Given the description of an element on the screen output the (x, y) to click on. 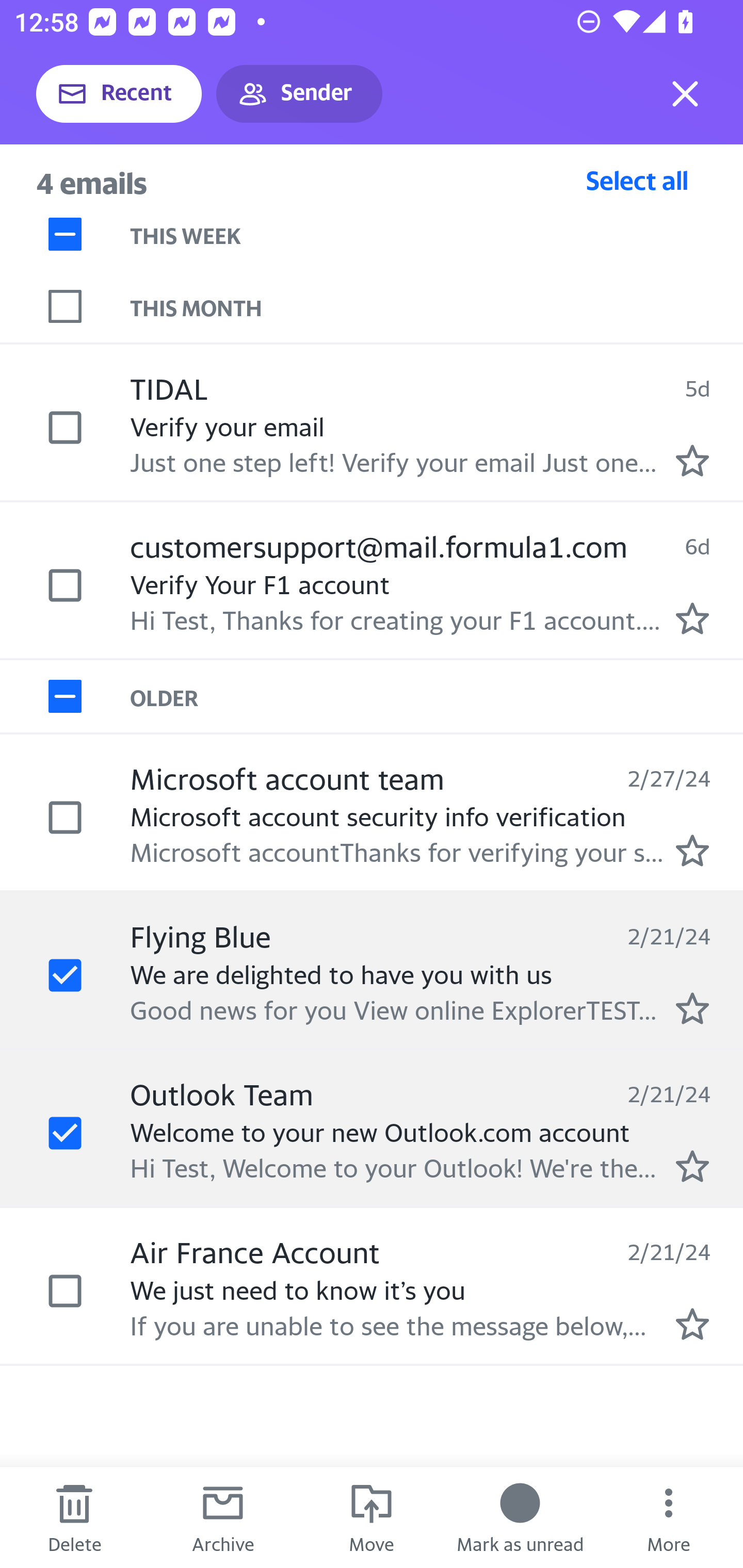
Sender (299, 93)
Exit selection mode (684, 93)
Select all (637, 180)
THIS MONTH (436, 306)
Mark as starred. (692, 460)
Mark as starred. (692, 618)
OLDER (436, 696)
Mark as starred. (692, 850)
Mark as starred. (692, 1008)
Mark as starred. (692, 1165)
Mark as starred. (692, 1324)
Delete (74, 1517)
Archive (222, 1517)
Move (371, 1517)
Mark as unread (519, 1517)
More (668, 1517)
